Given the description of an element on the screen output the (x, y) to click on. 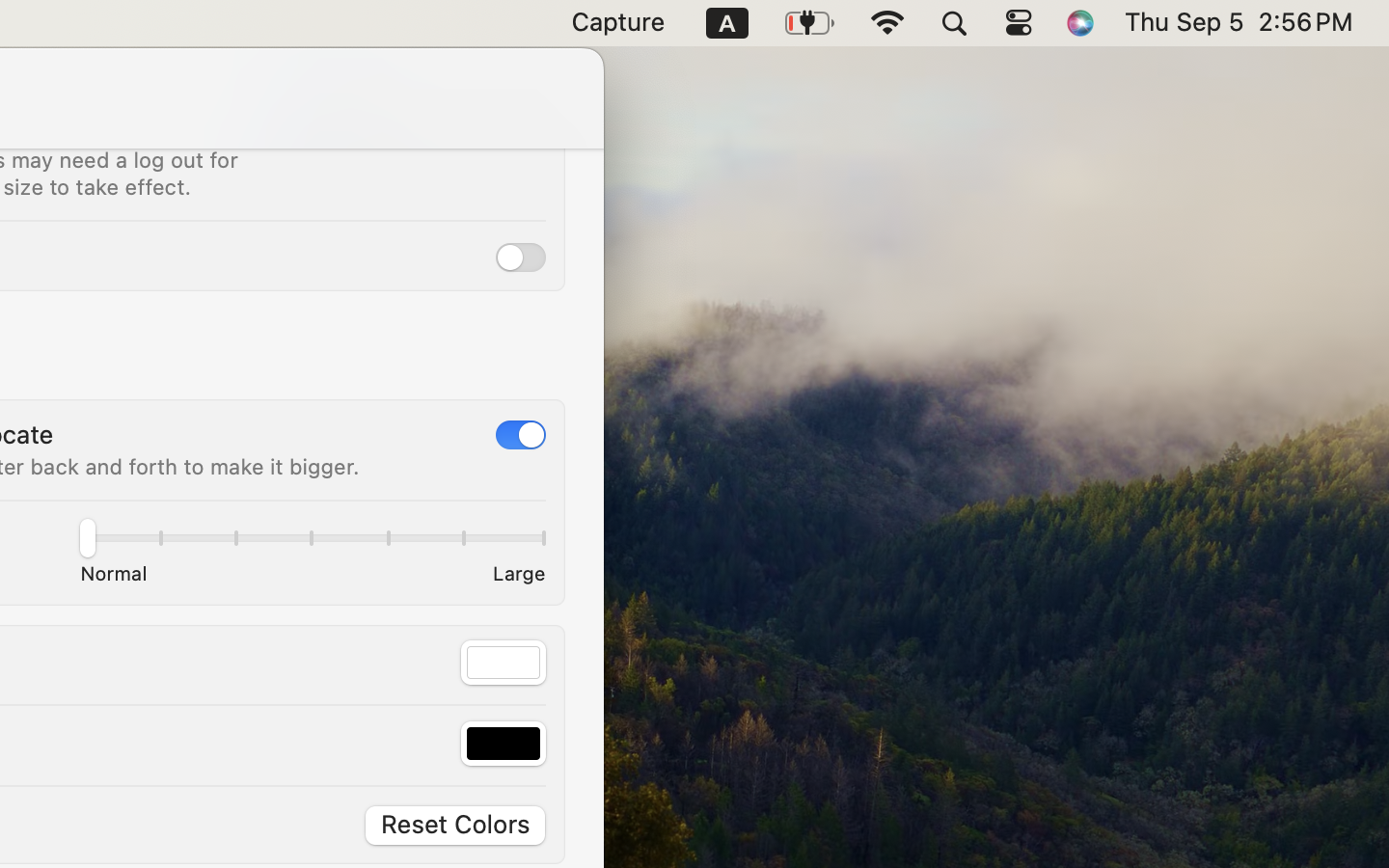
1.0 Element type: AXSlider (311, 542)
1 Element type: AXCheckBox (520, 434)
